Given the description of an element on the screen output the (x, y) to click on. 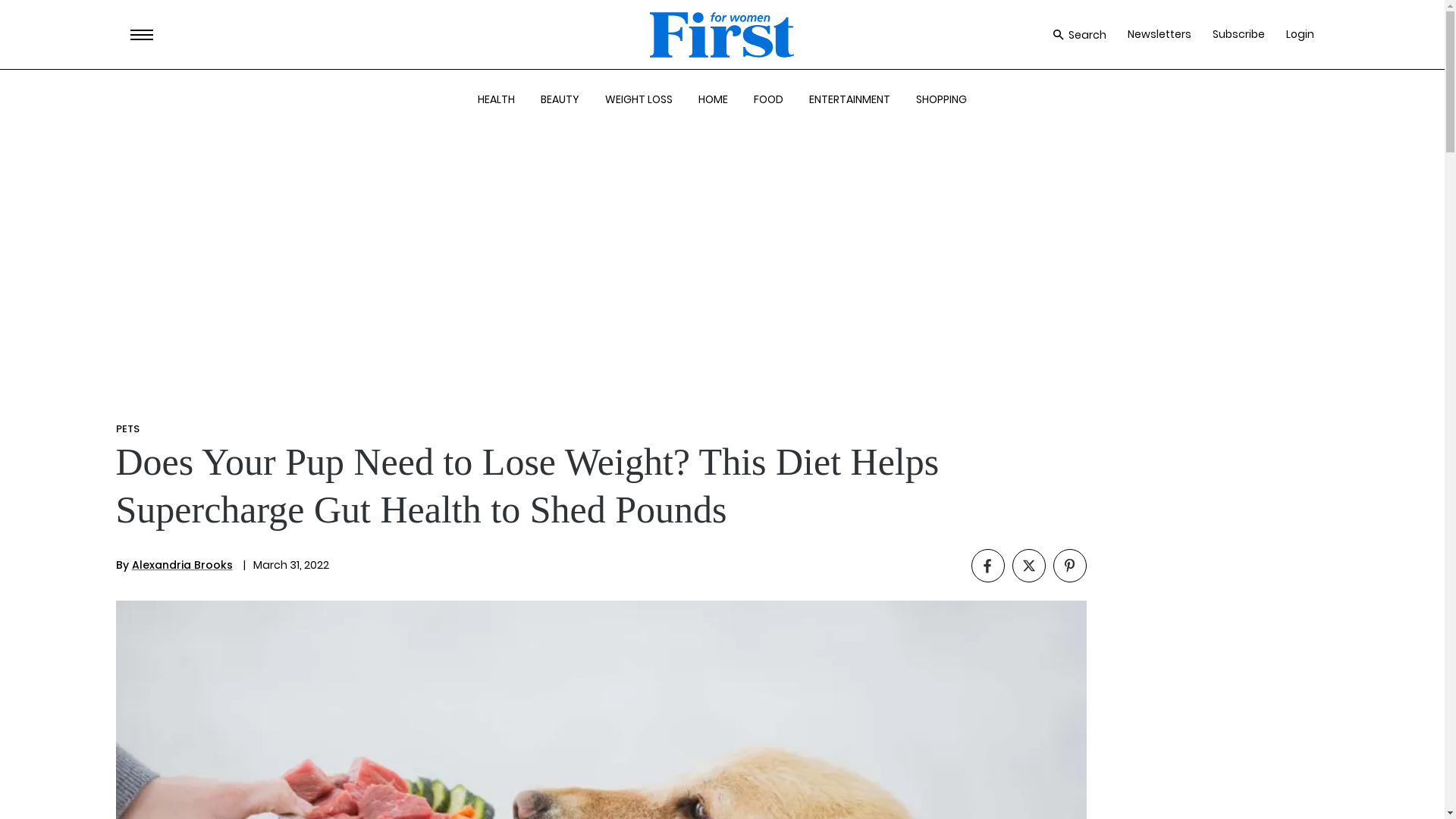
Click to share on Pinterest (1069, 565)
Click to share on Facebook (987, 565)
Click to share on Twitter (1028, 565)
